Given the description of an element on the screen output the (x, y) to click on. 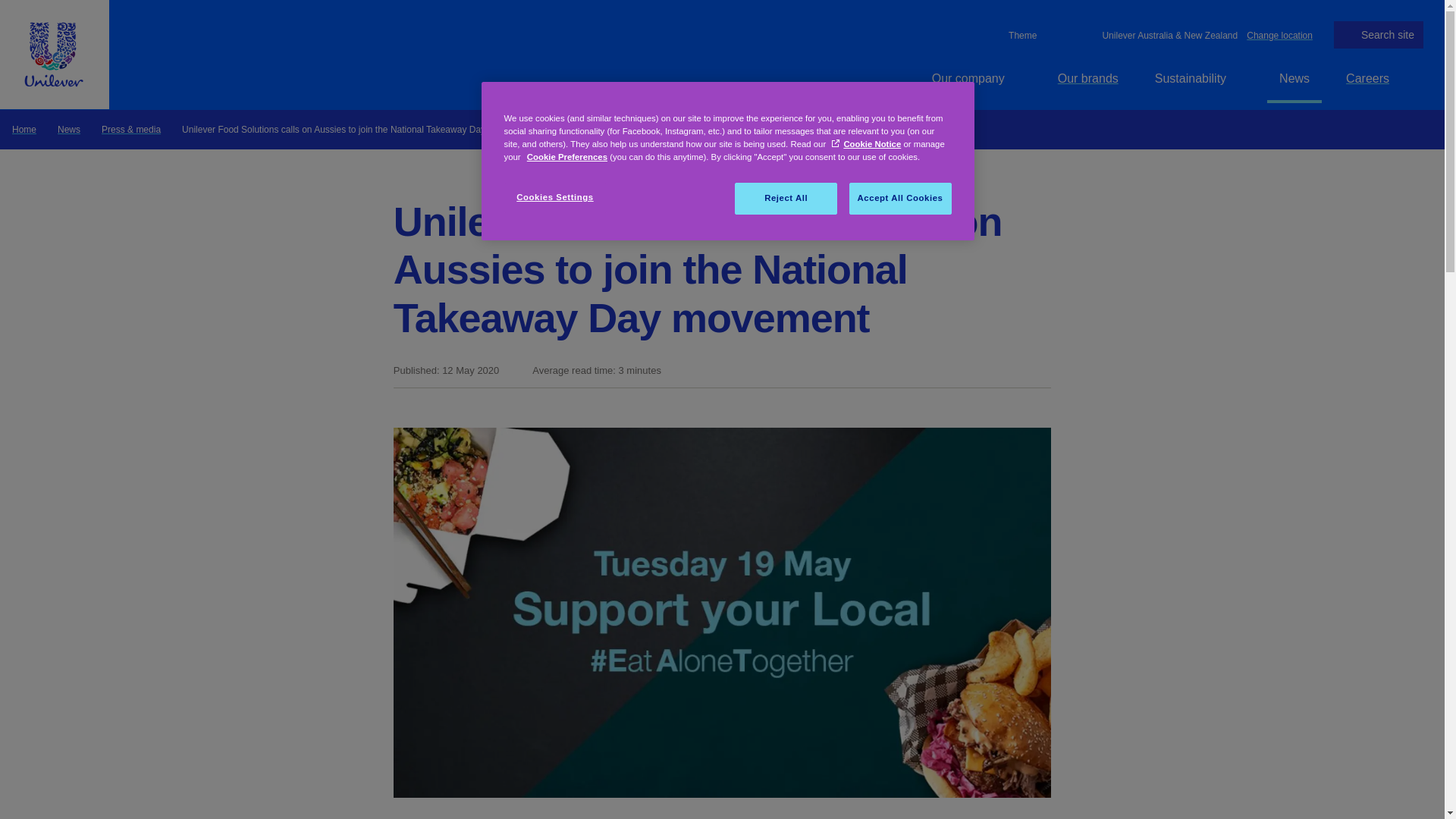
Our brands (1088, 78)
Sustainability (1198, 78)
Our company (976, 78)
Theme (1020, 35)
News (69, 129)
Search site (1378, 34)
Home (23, 129)
Change location (1279, 34)
Cookie Notice. Link opens in a new window (866, 143)
News (1294, 78)
